Given the description of an element on the screen output the (x, y) to click on. 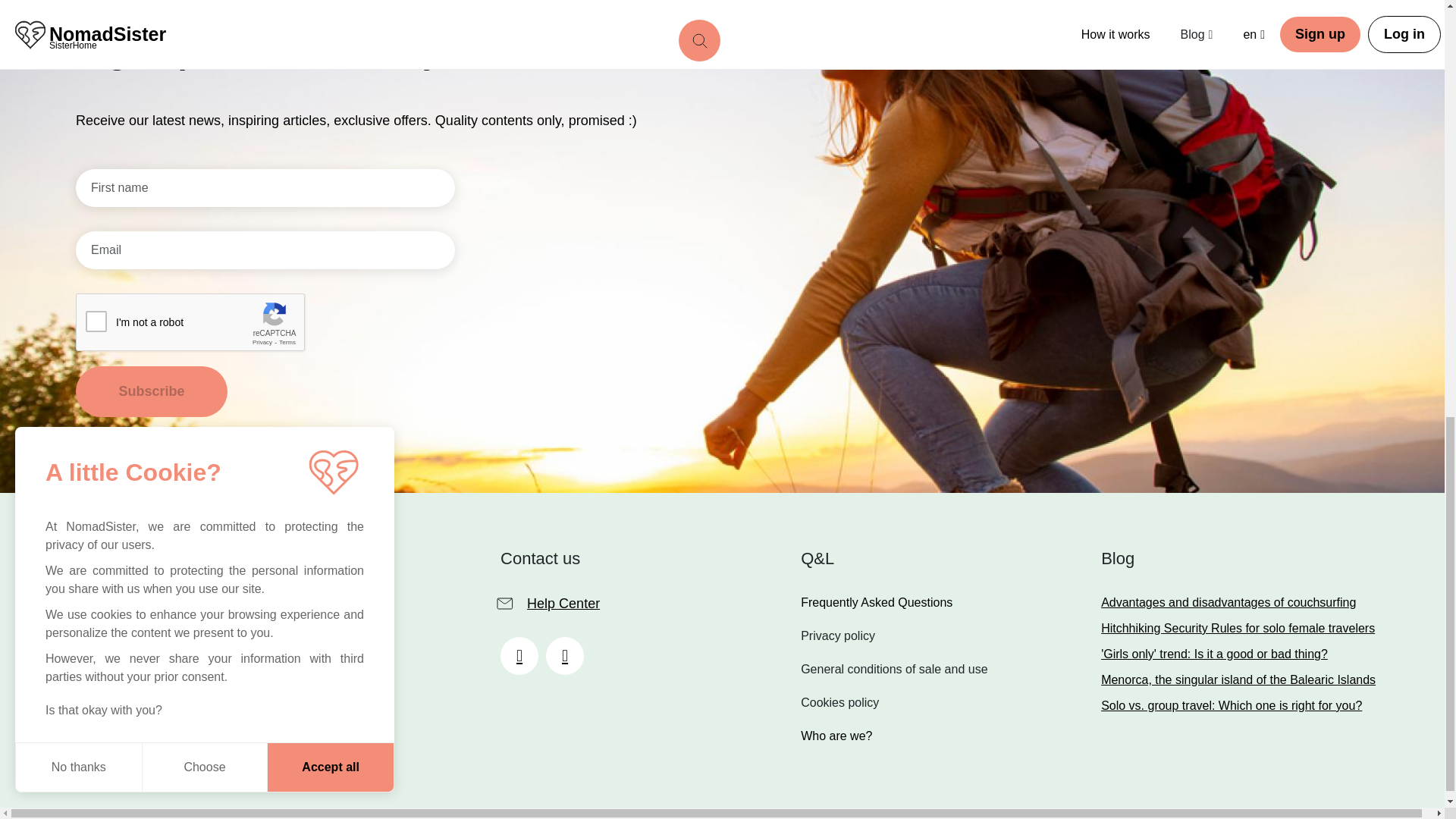
Solo vs. group travel: Which one is right for you? (1237, 705)
Hitchhiking Security Rules for solo female travelers (1237, 628)
Subscribe (205, 561)
Menorca, the singular island of the Balearic Islands (151, 391)
Frequently Asked Questions (1237, 679)
Who are we? (893, 602)
Advantages and disadvantages of couchsurfing (893, 736)
'Girls only' trend: Is it a good or bad thing? (1237, 602)
reCAPTCHA (1237, 654)
Subscribe (190, 322)
Help Center (151, 391)
